Given the description of an element on the screen output the (x, y) to click on. 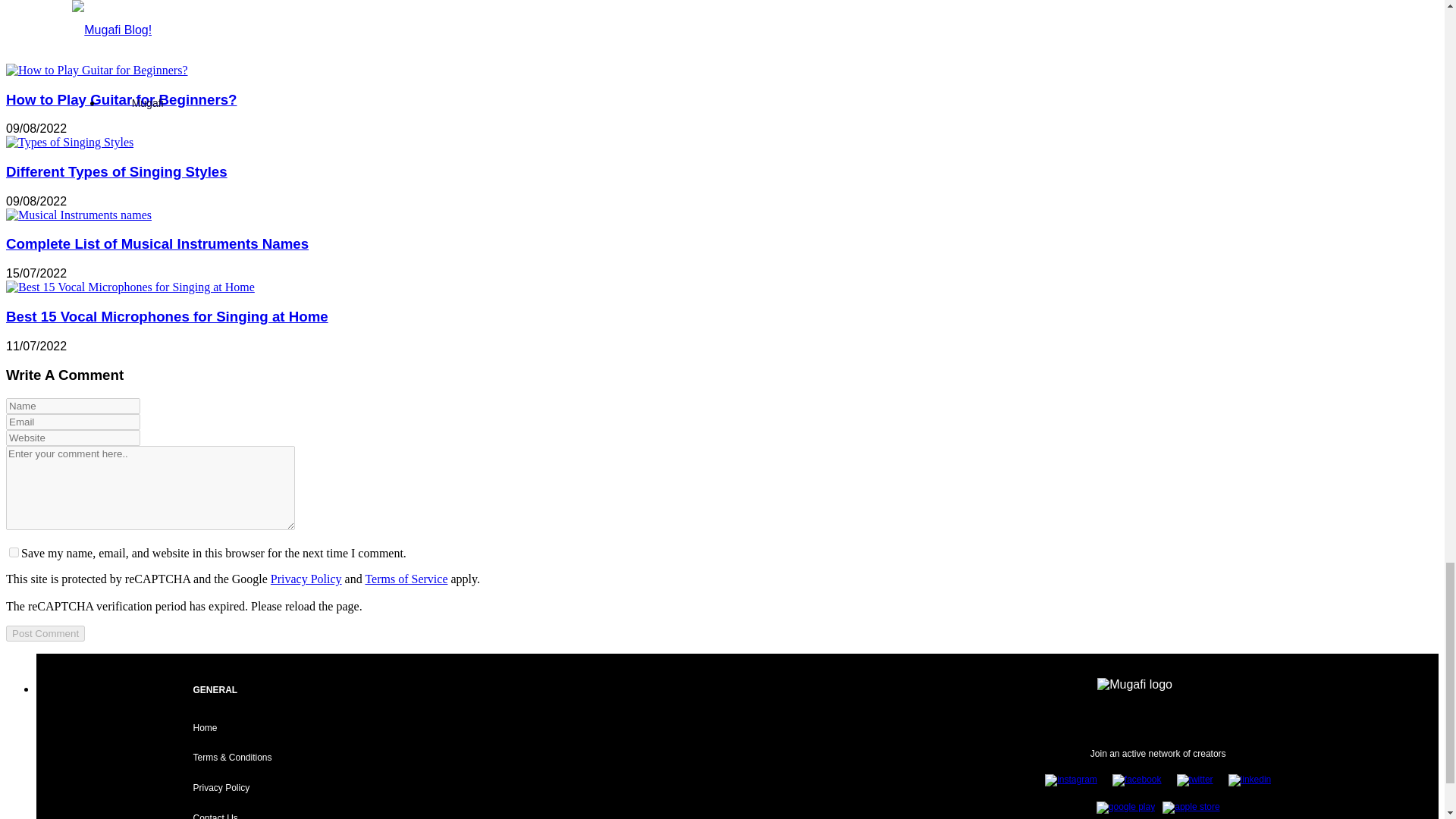
Terms of Service (405, 578)
How to Play Guitar for Beginners? (120, 99)
Privacy Policy (220, 787)
Best 15 Vocal Microphones for Singing at Home (129, 286)
Privacy Policy (306, 578)
yes (13, 552)
Home (204, 727)
Complete List of Musical Instruments Names (156, 243)
Best 15 Vocal Microphones for Singing at Home (167, 316)
How to Play Guitar for Beginners? (96, 69)
Different Types of Singing Styles (116, 171)
Complete List of Musical Instruments Names (78, 214)
Post Comment (44, 633)
Complete List of Musical Instruments Names (78, 214)
